Given the description of an element on the screen output the (x, y) to click on. 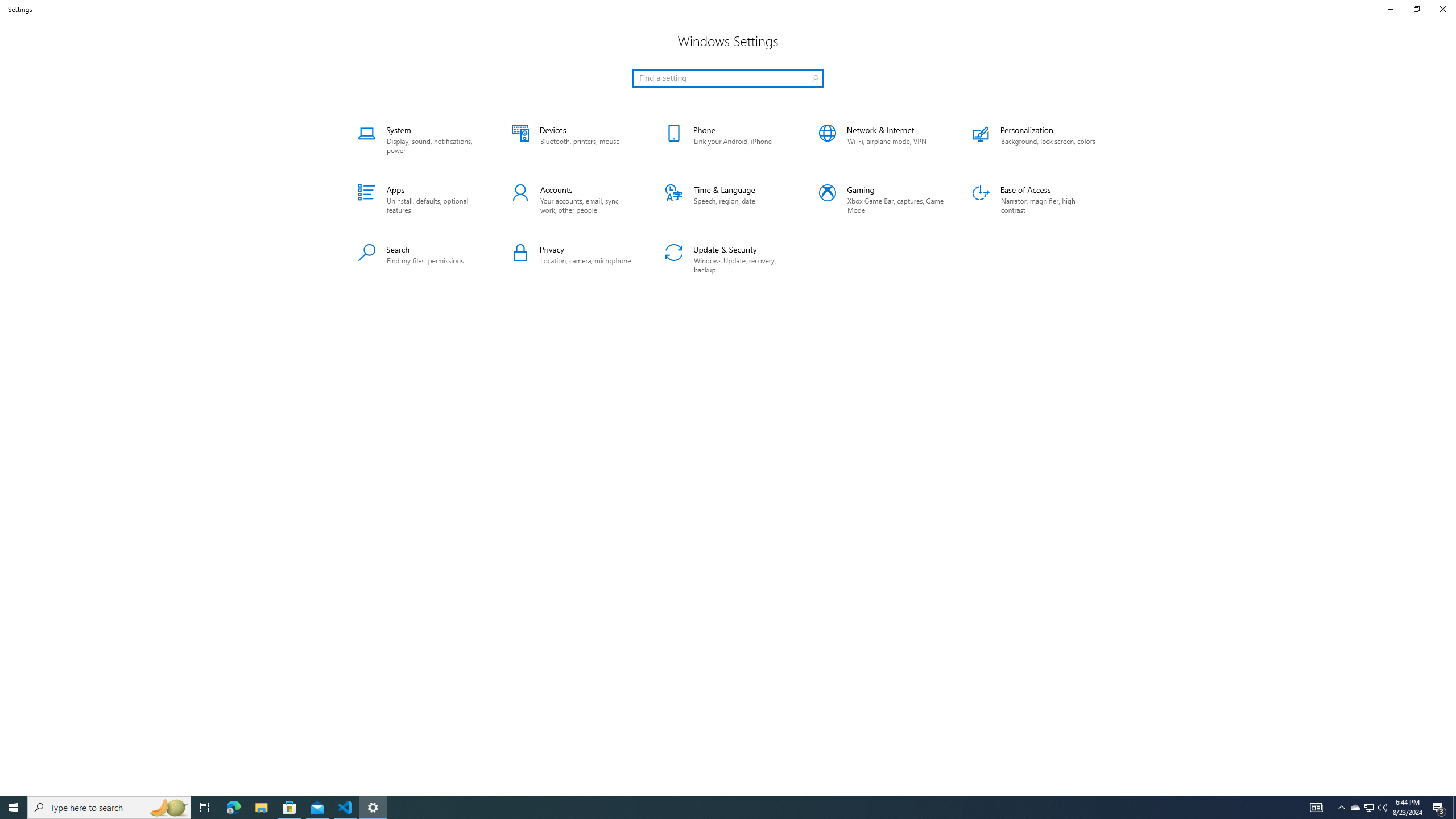
Minimize Settings (1390, 9)
